Given the description of an element on the screen output the (x, y) to click on. 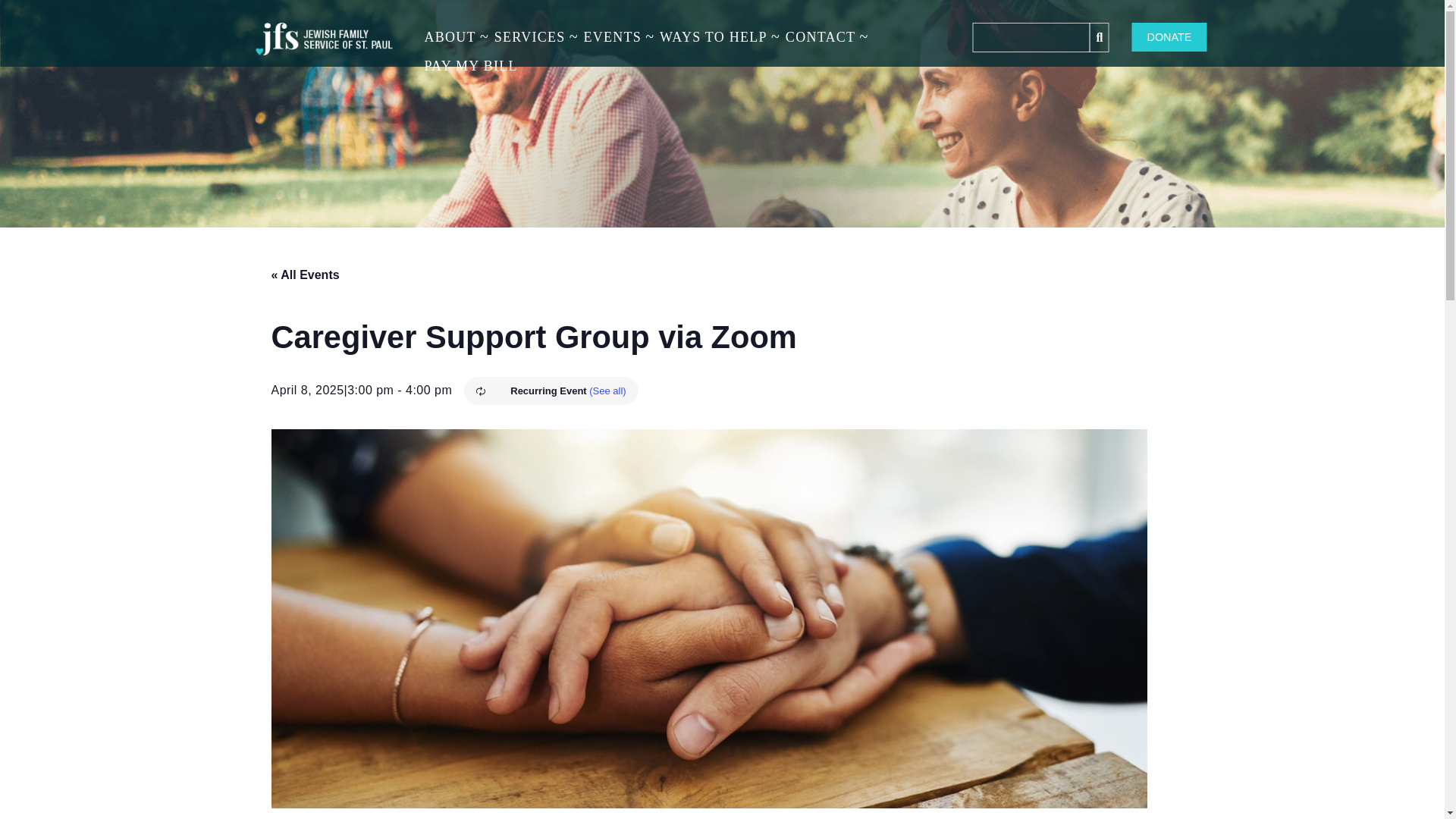
PAY MY BILL (470, 65)
EVENTS (611, 36)
CONTACT (820, 36)
DONATE (1169, 36)
WAYS TO HELP (713, 36)
SERVICES (529, 36)
JFS: Jewish Family Service of St. Paul, Minnesota (324, 42)
ABOUT (449, 36)
